Given the description of an element on the screen output the (x, y) to click on. 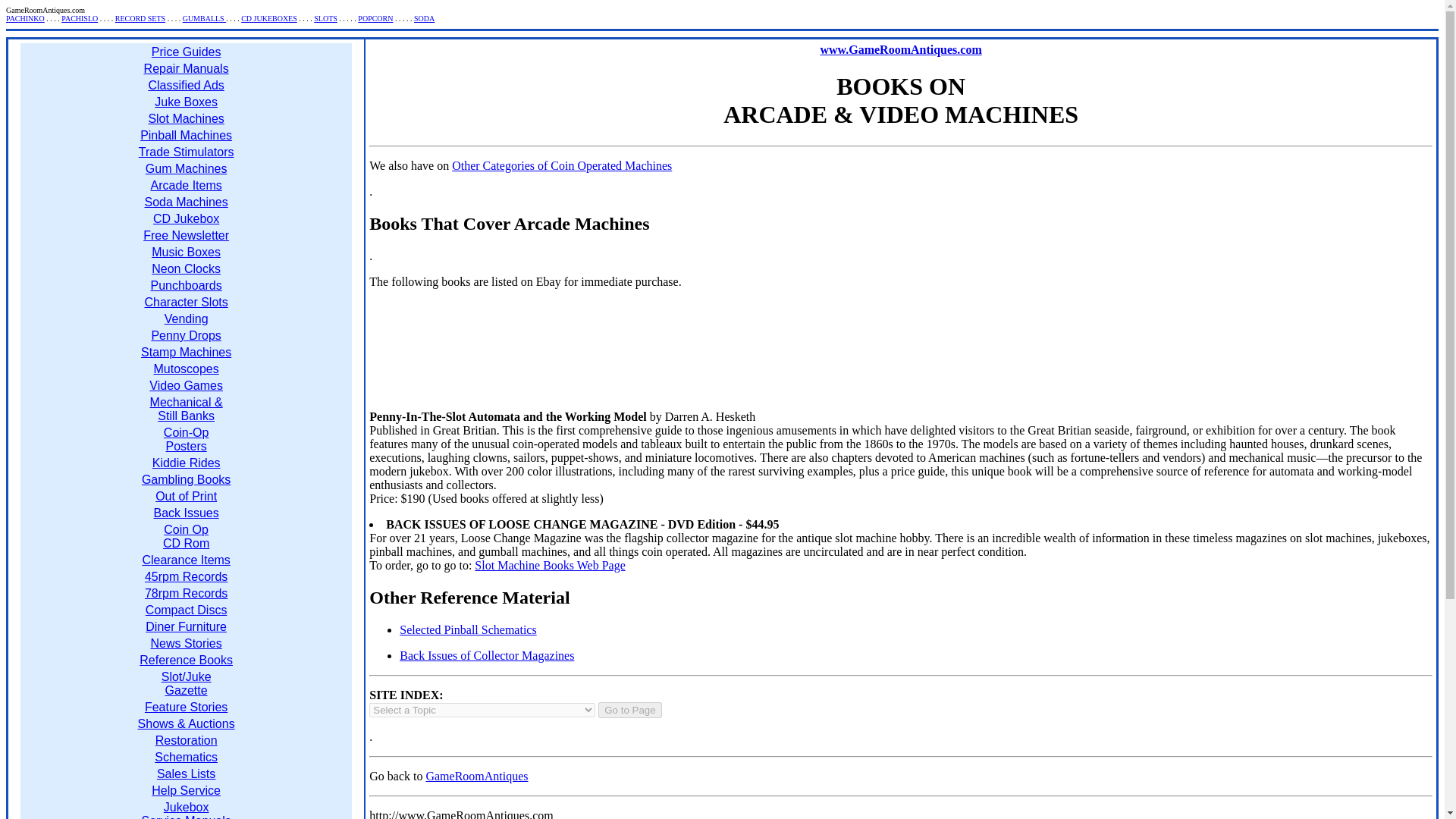
Pinball Machines (185, 134)
CD Jukebox (185, 218)
POPCORN (375, 18)
Punchboards (185, 285)
Go to Page (629, 709)
RECORD SETS (140, 18)
Clearance Items (185, 559)
Free Newsletter (185, 235)
Classified Ads (186, 84)
Repair Manuals (186, 68)
PACHINKO (25, 18)
SODA (423, 18)
Juke Boxes (185, 101)
Soda Machines (185, 201)
CD JUKEBOXES (269, 18)
